Given the description of an element on the screen output the (x, y) to click on. 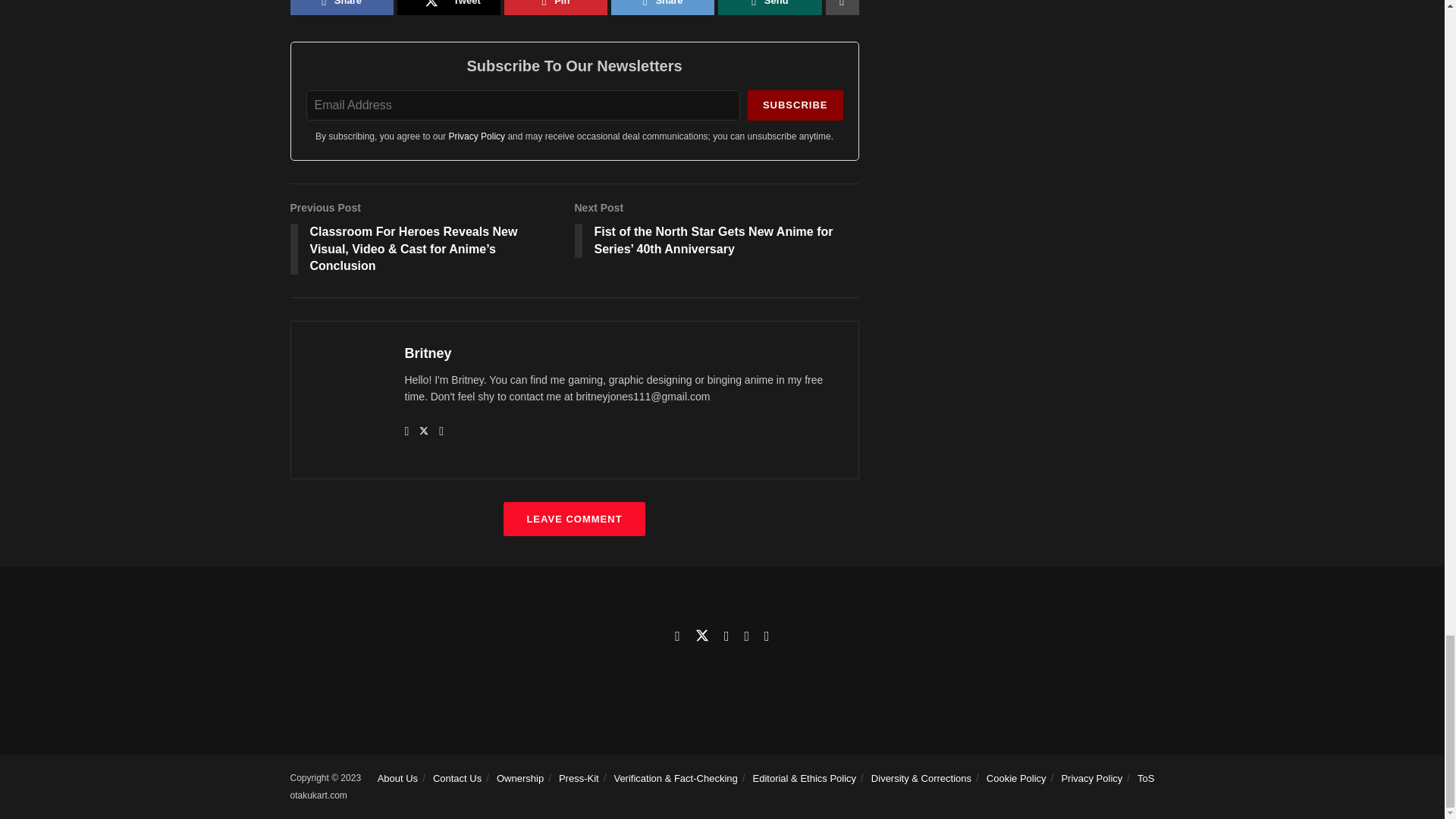
Privacy Policy (476, 136)
Share (662, 7)
Share (341, 7)
SUBSCRIBE (795, 105)
Britney (427, 353)
Tweet (448, 7)
Send (769, 7)
Pin (555, 7)
SUBSCRIBE (795, 105)
